Given the description of an element on the screen output the (x, y) to click on. 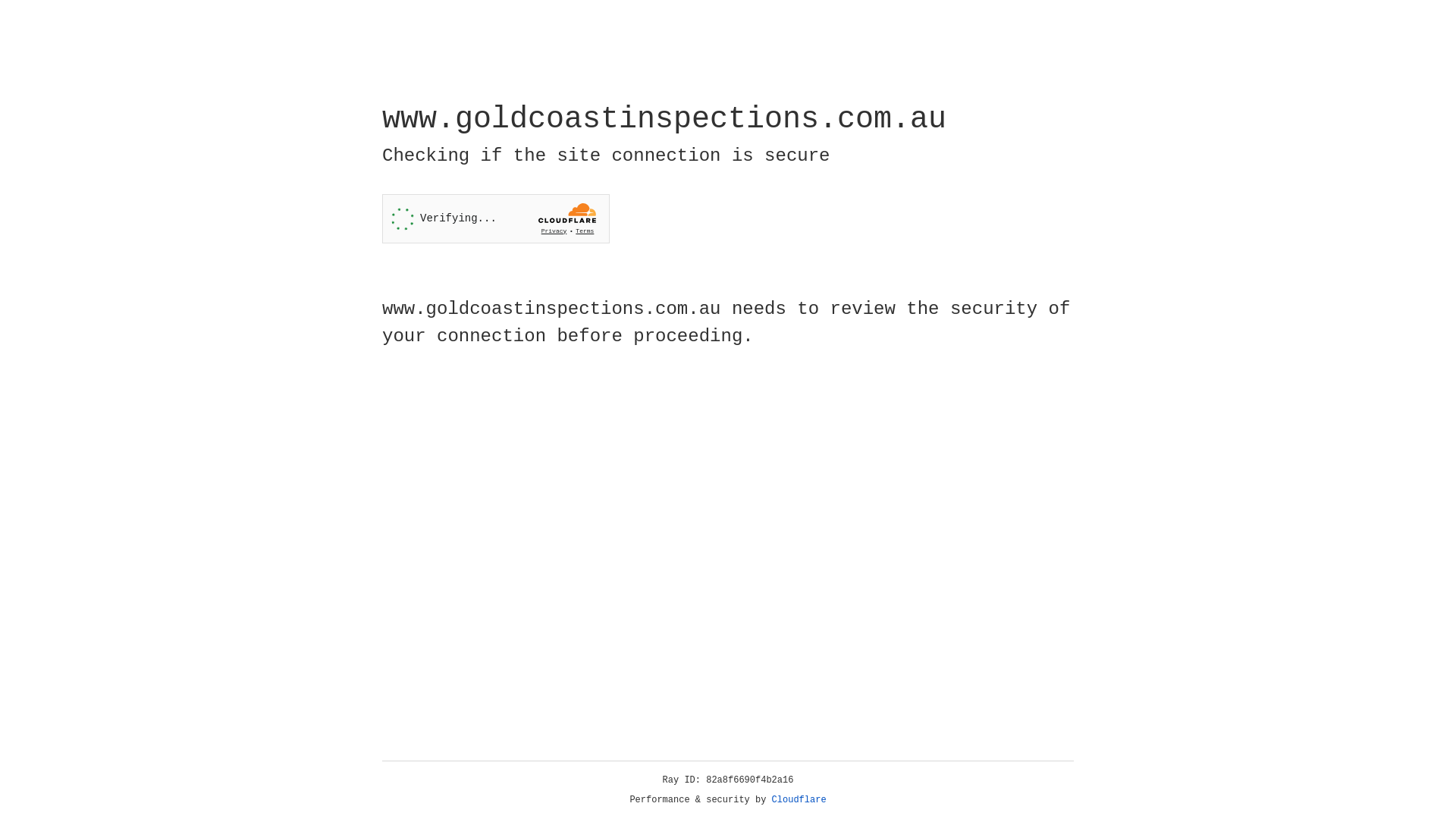
Widget containing a Cloudflare security challenge Element type: hover (495, 218)
Cloudflare Element type: text (798, 799)
